Given the description of an element on the screen output the (x, y) to click on. 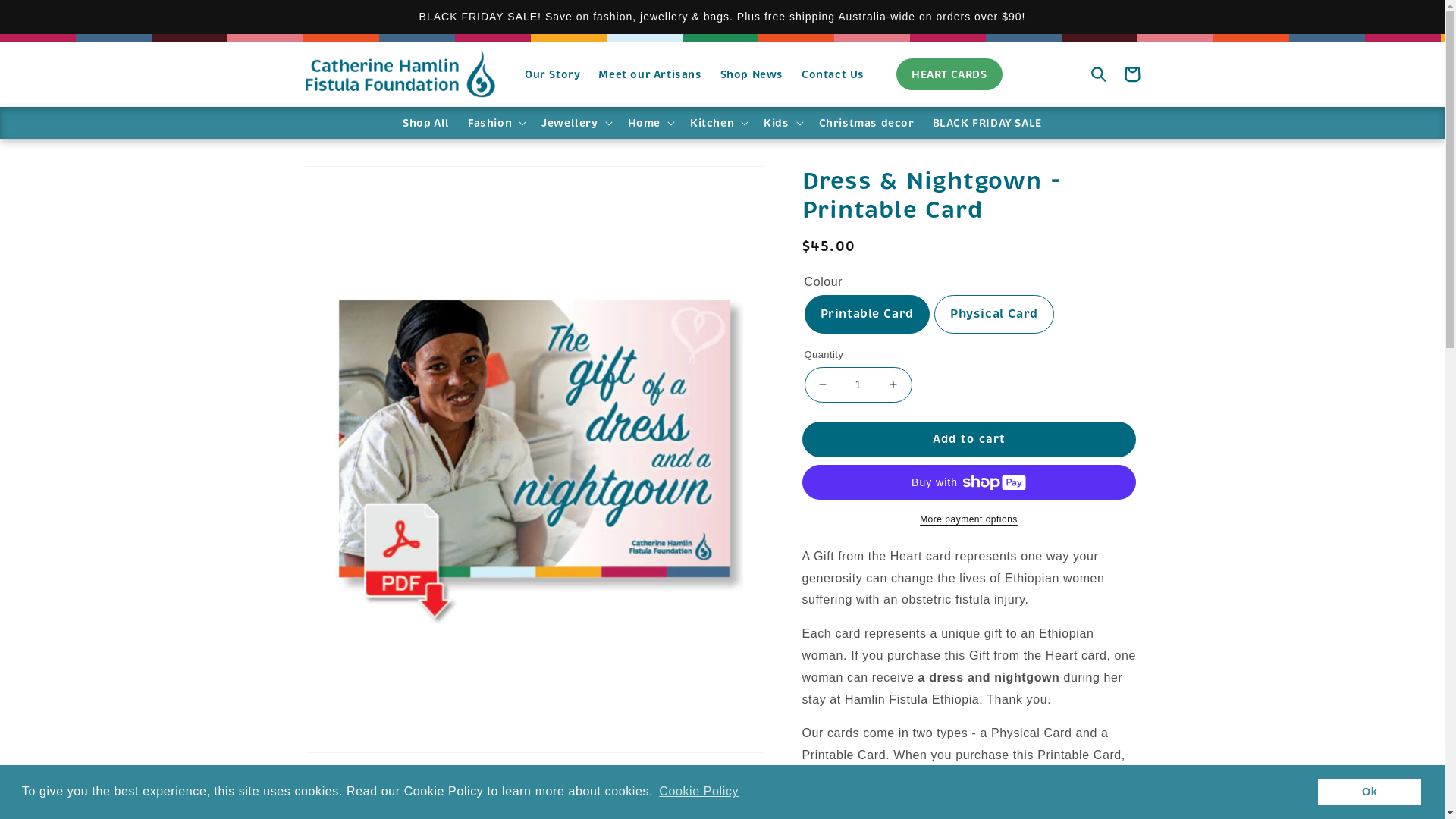
Decrease quantity for Dress &amp; Nightgown - Printable Card Element type: text (822, 384)
Increase quantity for Dress &amp; Nightgown - Printable Card Element type: text (893, 384)
BLACK FRIDAY SALE Element type: text (987, 122)
Cookie Policy Element type: text (698, 791)
Shop News Element type: text (751, 74)
Physical Card Element type: text (994, 313)
Shop All Element type: text (425, 122)
Printable Card Element type: text (865, 313)
Ok Element type: text (1369, 791)
More payment options Element type: text (968, 519)
Skip to product information Element type: text (350, 182)
Our Story Element type: text (552, 74)
Add to cart Element type: text (968, 439)
Contact Us Element type: text (832, 74)
Christmas decor Element type: text (866, 122)
Meet our Artisans Element type: text (649, 74)
Cart Element type: text (1131, 74)
HEART CARDS Element type: text (949, 74)
